Given the description of an element on the screen output the (x, y) to click on. 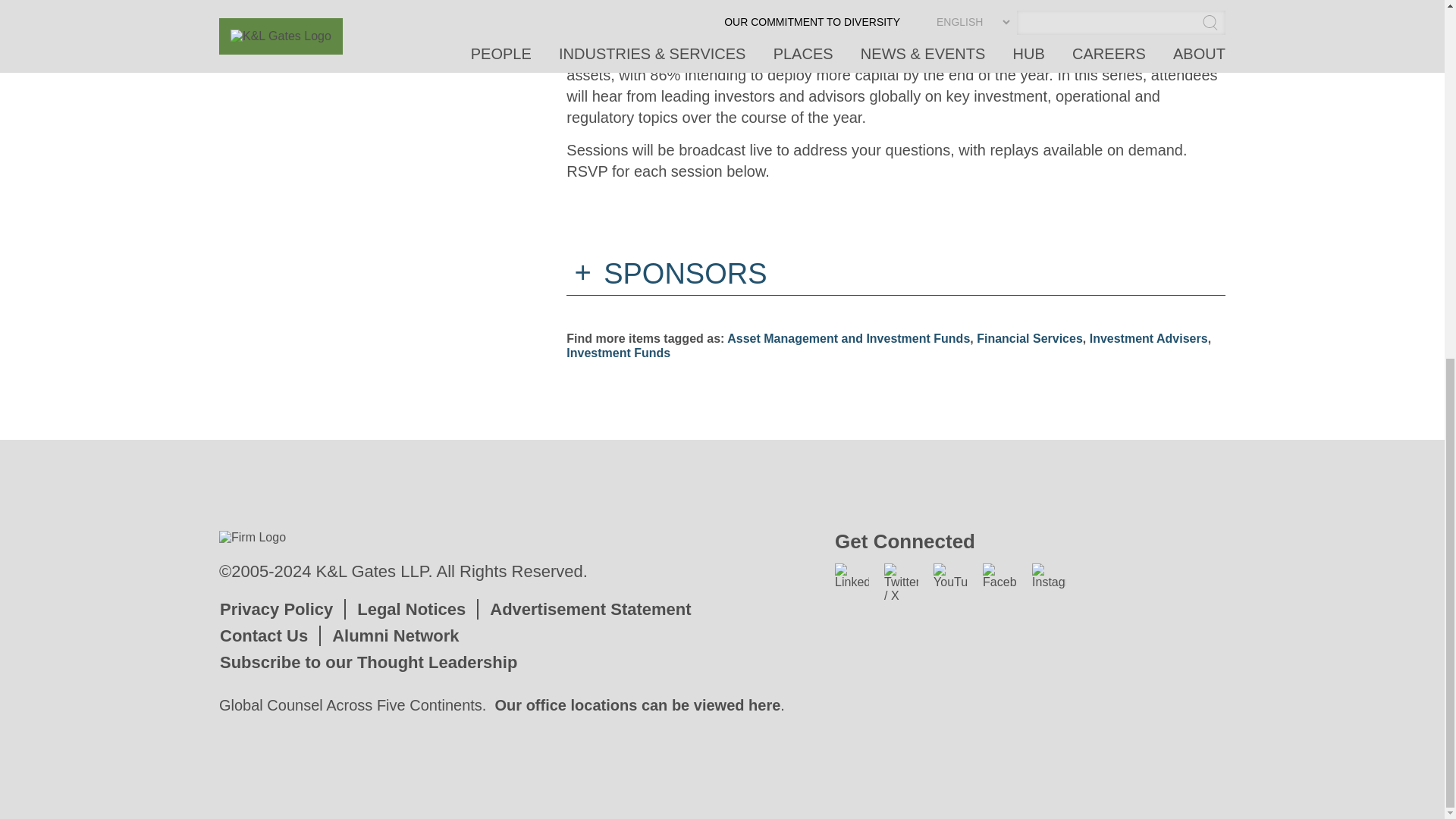
Investment Advisers (1148, 338)
Contact Us (263, 635)
YouTube (950, 575)
Advertisement Statement (589, 609)
Asset Management and Investment Funds (847, 338)
Investment Funds (617, 352)
Subscribe to our Thought Leadership (367, 661)
Linkedin (851, 575)
Legal Notices (410, 609)
Privacy Policy (276, 609)
